Given the description of an element on the screen output the (x, y) to click on. 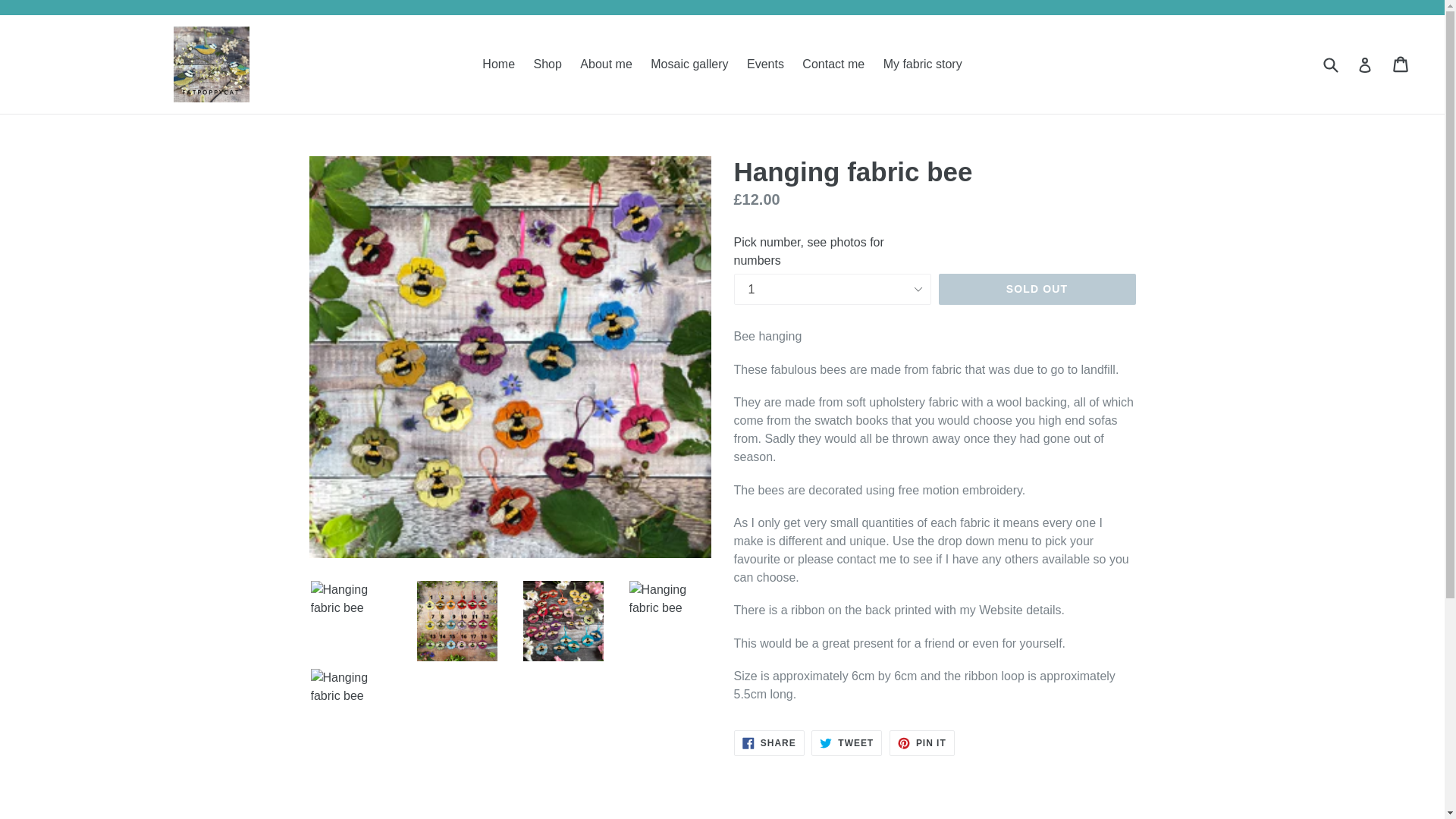
Events (765, 64)
Shop (547, 64)
Home (498, 64)
Mosaic gallery (769, 742)
Share on Facebook (689, 64)
Tweet on Twitter (769, 742)
SOLD OUT (846, 742)
Contact me (1037, 289)
My fabric story (833, 64)
